Given the description of an element on the screen output the (x, y) to click on. 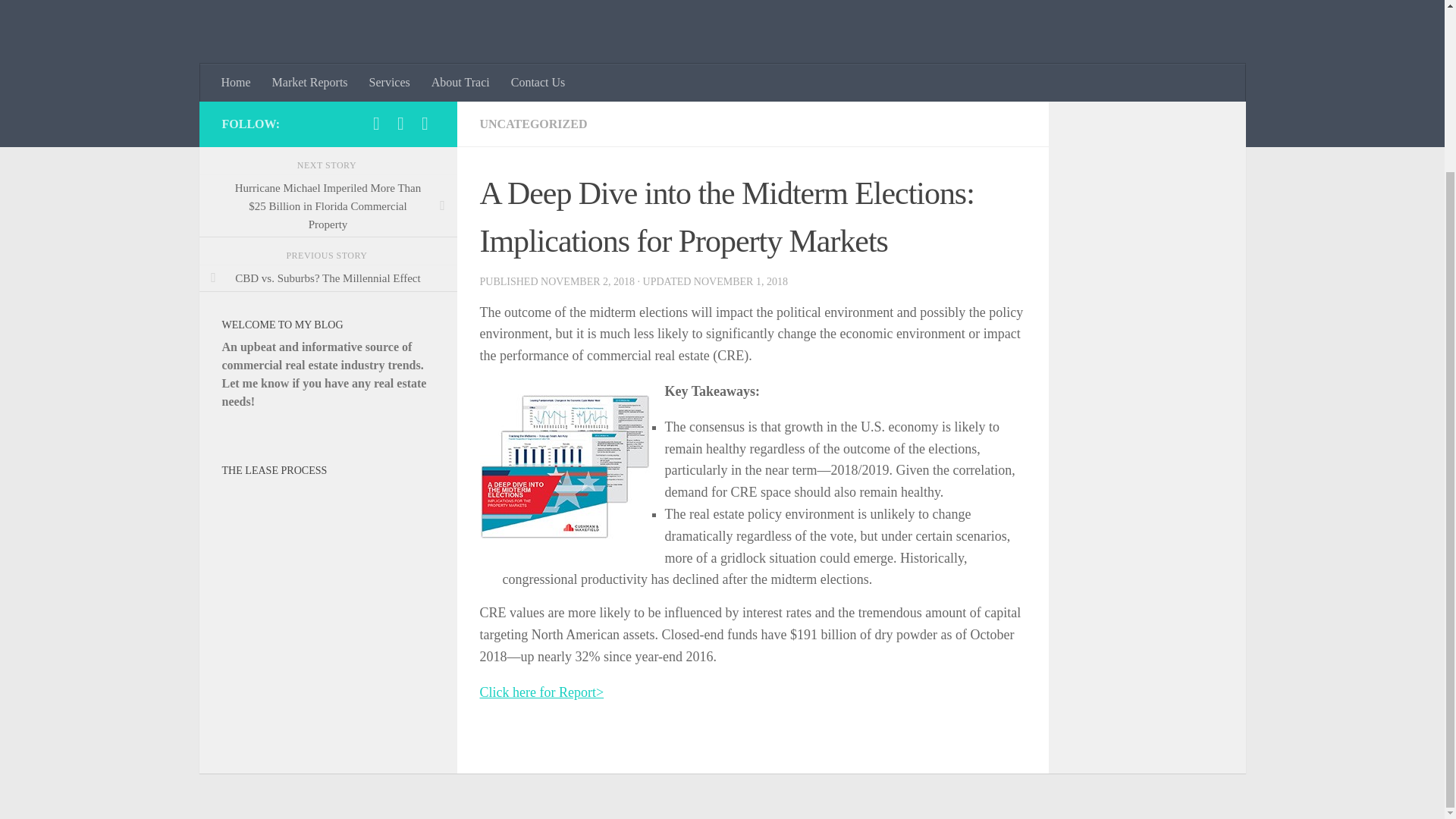
Contact Us (538, 82)
Follow us on Twitter (423, 123)
About Traci (460, 82)
CBD vs. Suburbs? The Millennial Effect (327, 277)
Services (389, 82)
Home (236, 82)
Follow us on Facebook (400, 123)
Follow us on Linkedin (375, 123)
Market Reports (310, 82)
UNCATEGORIZED (532, 123)
